Given the description of an element on the screen output the (x, y) to click on. 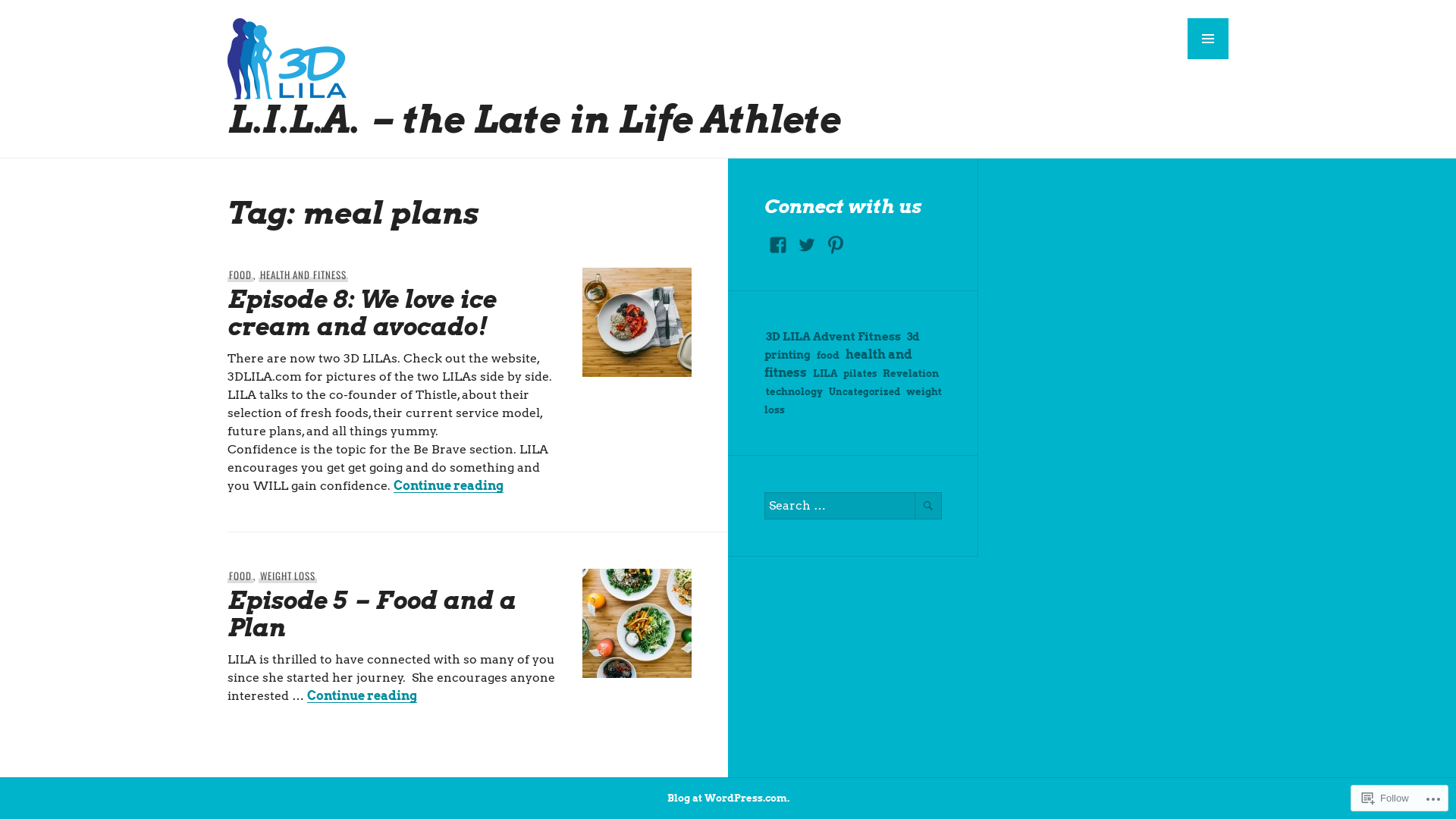
Revelation Element type: text (910, 372)
HEALTH AND FITNESS Element type: text (303, 274)
LILA Element type: text (824, 373)
Search Element type: text (927, 505)
Uncategorized Element type: text (864, 391)
3D LILA Advent Fitness Element type: text (833, 336)
FOOD Element type: text (240, 575)
health and fitness Element type: text (838, 363)
Blog at WordPress.com. Element type: text (728, 797)
pilates Element type: text (859, 373)
food Element type: text (827, 354)
FOOD Element type: text (240, 274)
3d printing Element type: text (841, 345)
weight loss Element type: text (852, 400)
Follow Element type: text (1385, 797)
WEIGHT LOSS Element type: text (287, 575)
Continue reading Element type: text (362, 695)
Continue reading Element type: text (448, 485)
Episode 8: We love ice cream and avocado! Element type: text (361, 312)
technology Element type: text (794, 391)
